Given the description of an element on the screen output the (x, y) to click on. 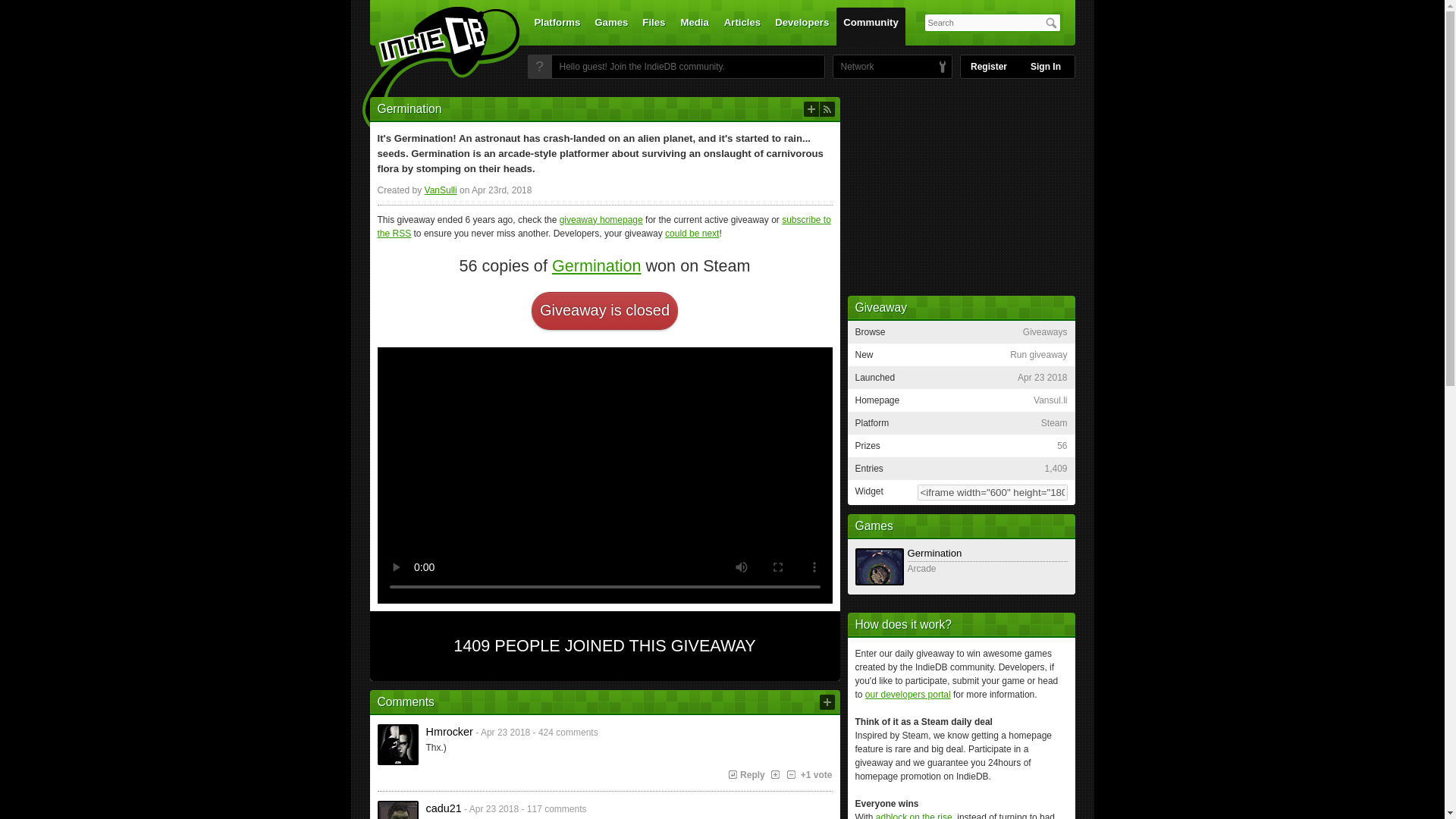
Developers (801, 26)
Search (1050, 22)
Files (652, 26)
Media (694, 26)
Run giveaway (810, 109)
Join IndieDB (539, 66)
Home (430, 70)
Karma (816, 775)
cadu21 (398, 809)
Good karma (774, 775)
